Given the description of an element on the screen output the (x, y) to click on. 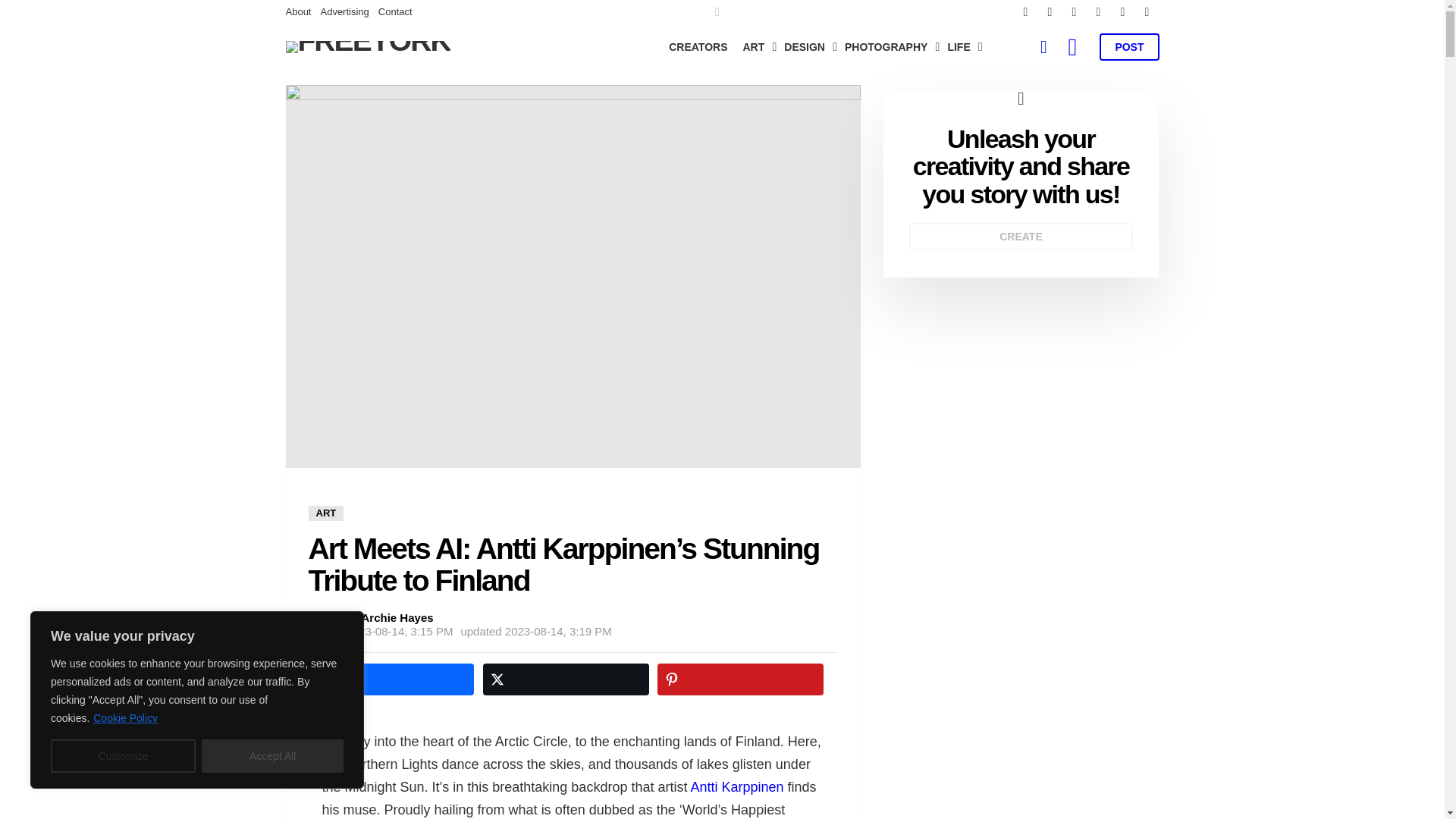
twitter (1048, 11)
CREATORS (698, 47)
tiktok (1146, 11)
PHOTOGRAPHY (888, 47)
Cookie Policy (125, 717)
LIFE (960, 47)
Contact (395, 12)
Share on Facebook (390, 679)
Posts by Archie Hayes (397, 617)
Share on Twitter (566, 679)
